Given the description of an element on the screen output the (x, y) to click on. 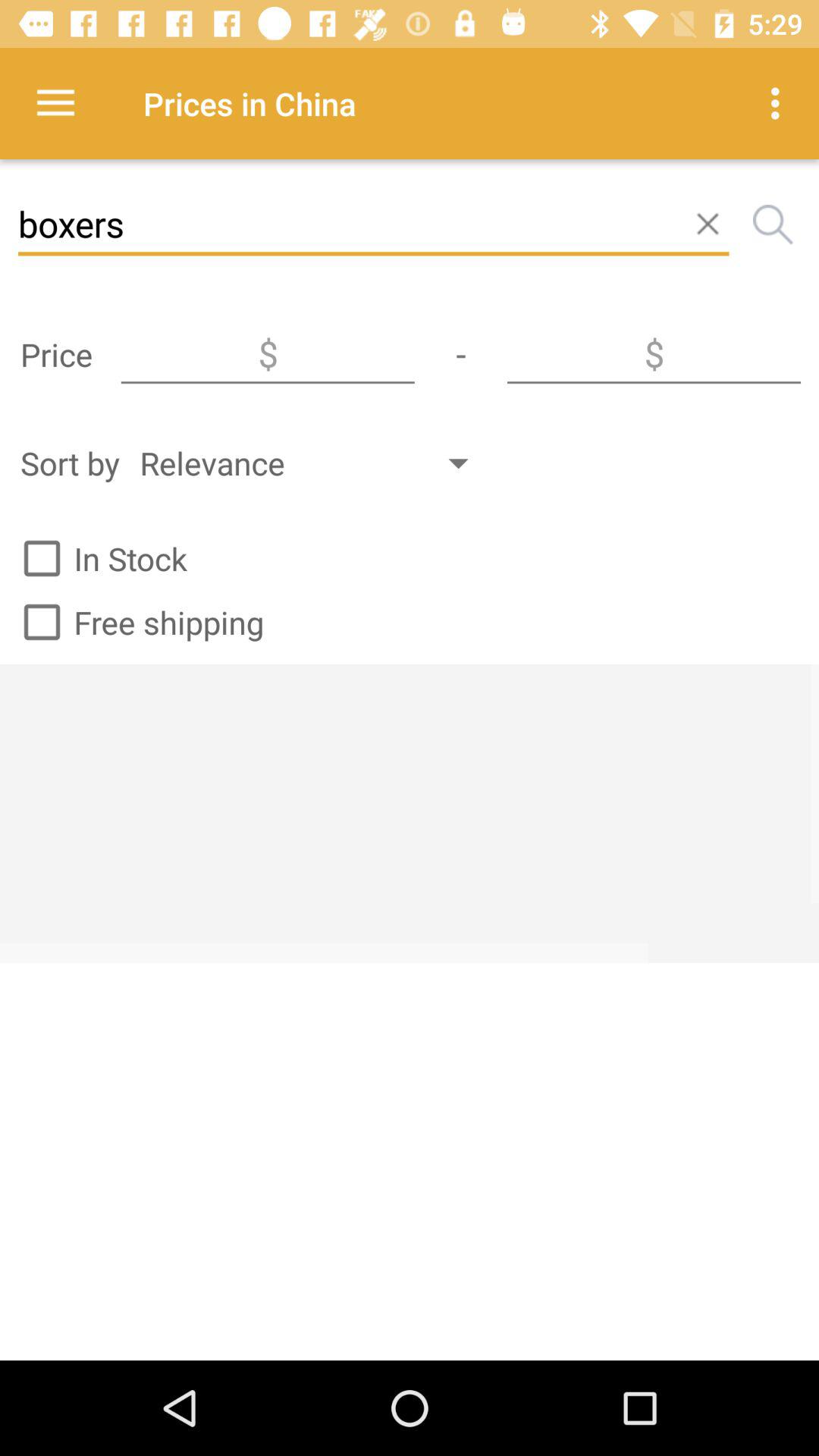
swipe until the free shipping icon (136, 622)
